Given the description of an element on the screen output the (x, y) to click on. 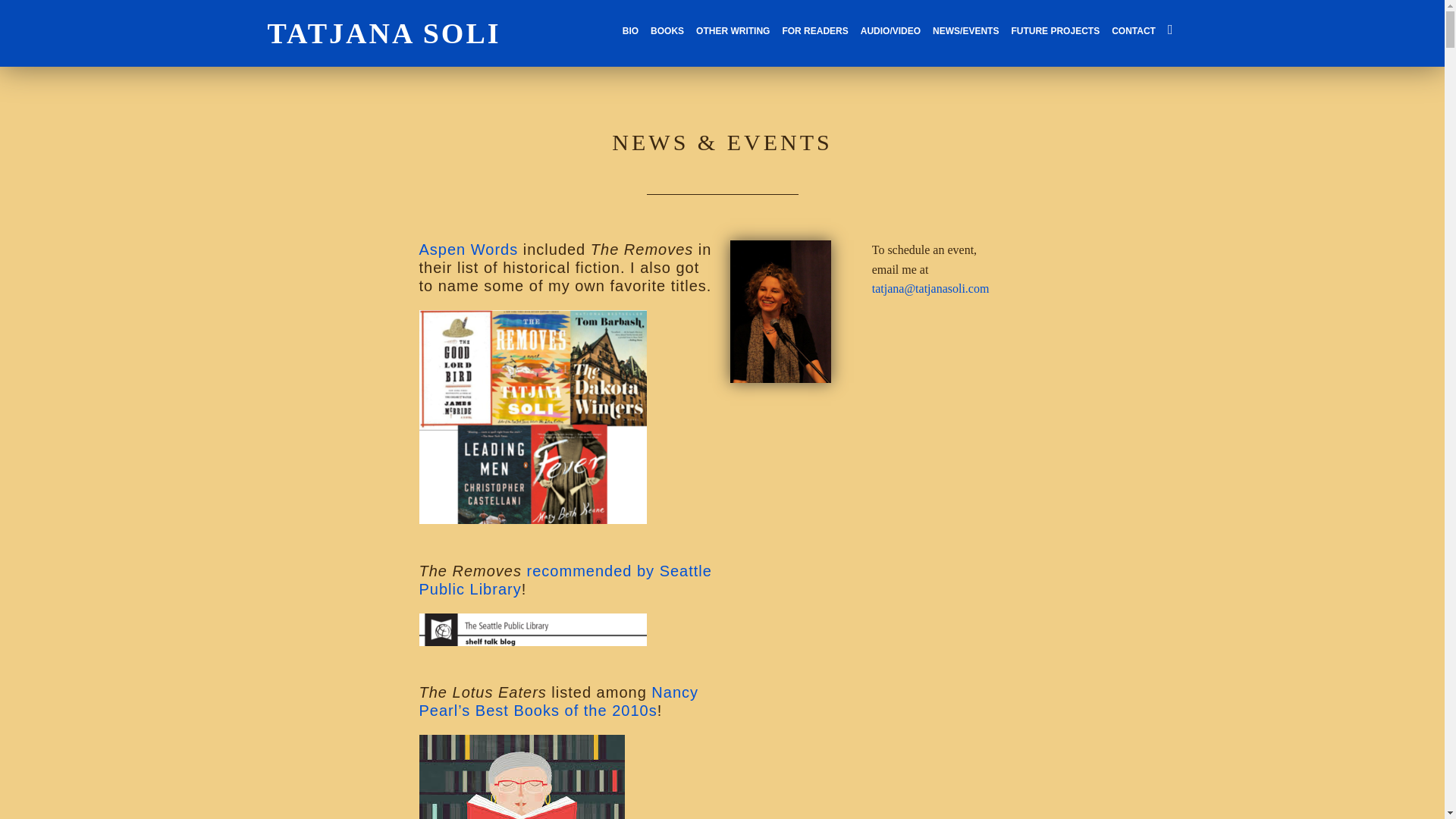
Aspen Words (468, 248)
OTHER WRITING (732, 31)
recommended by Seattle Public Library (565, 579)
CONTACT (1133, 31)
FOR READERS (814, 31)
TATJANA SOLI (383, 33)
FUTURE PROJECTS (1054, 31)
